Given the description of an element on the screen output the (x, y) to click on. 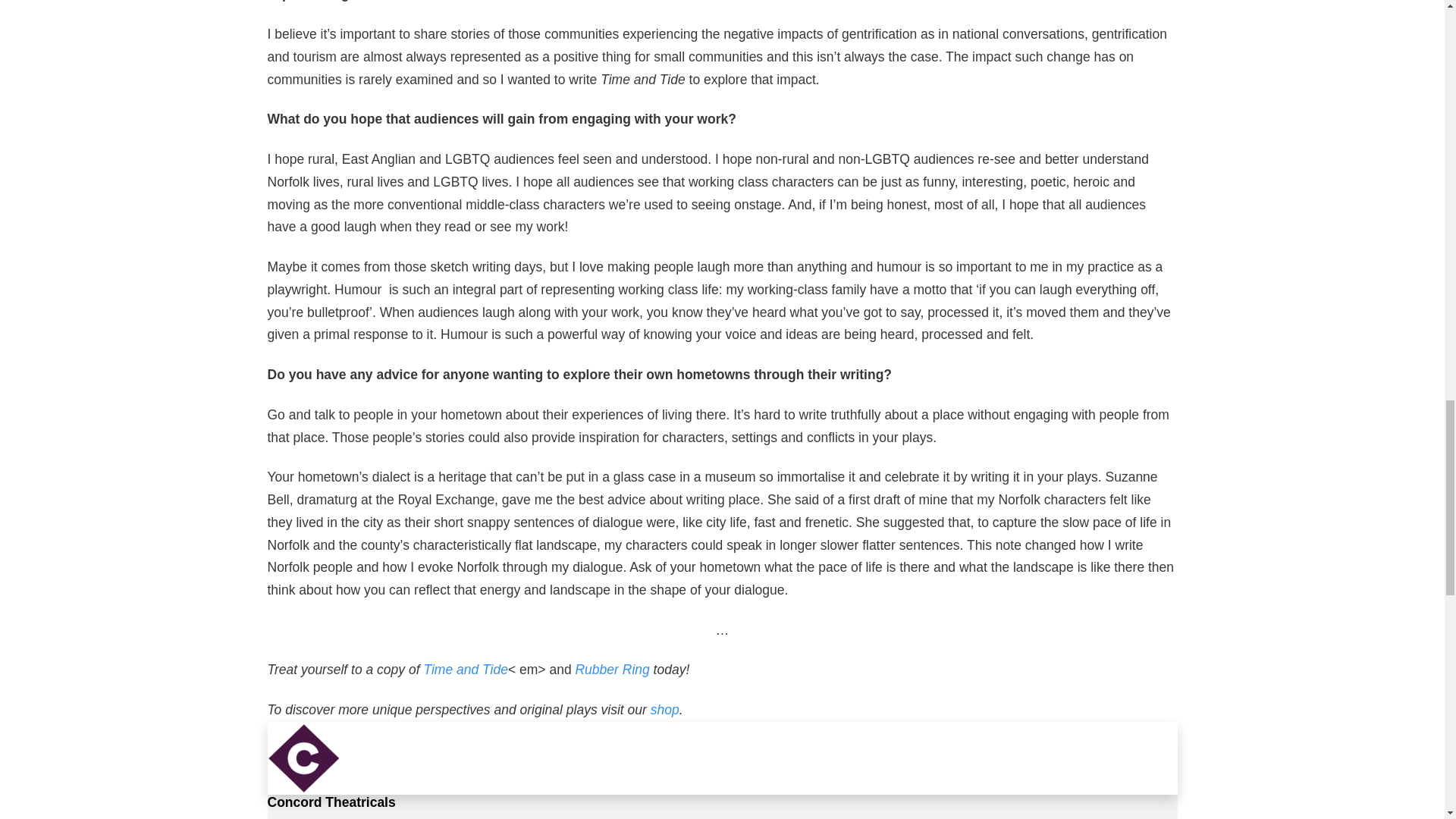
Rubber Ring (612, 669)
shop (664, 709)
Time and Tide (465, 669)
